Given the description of an element on the screen output the (x, y) to click on. 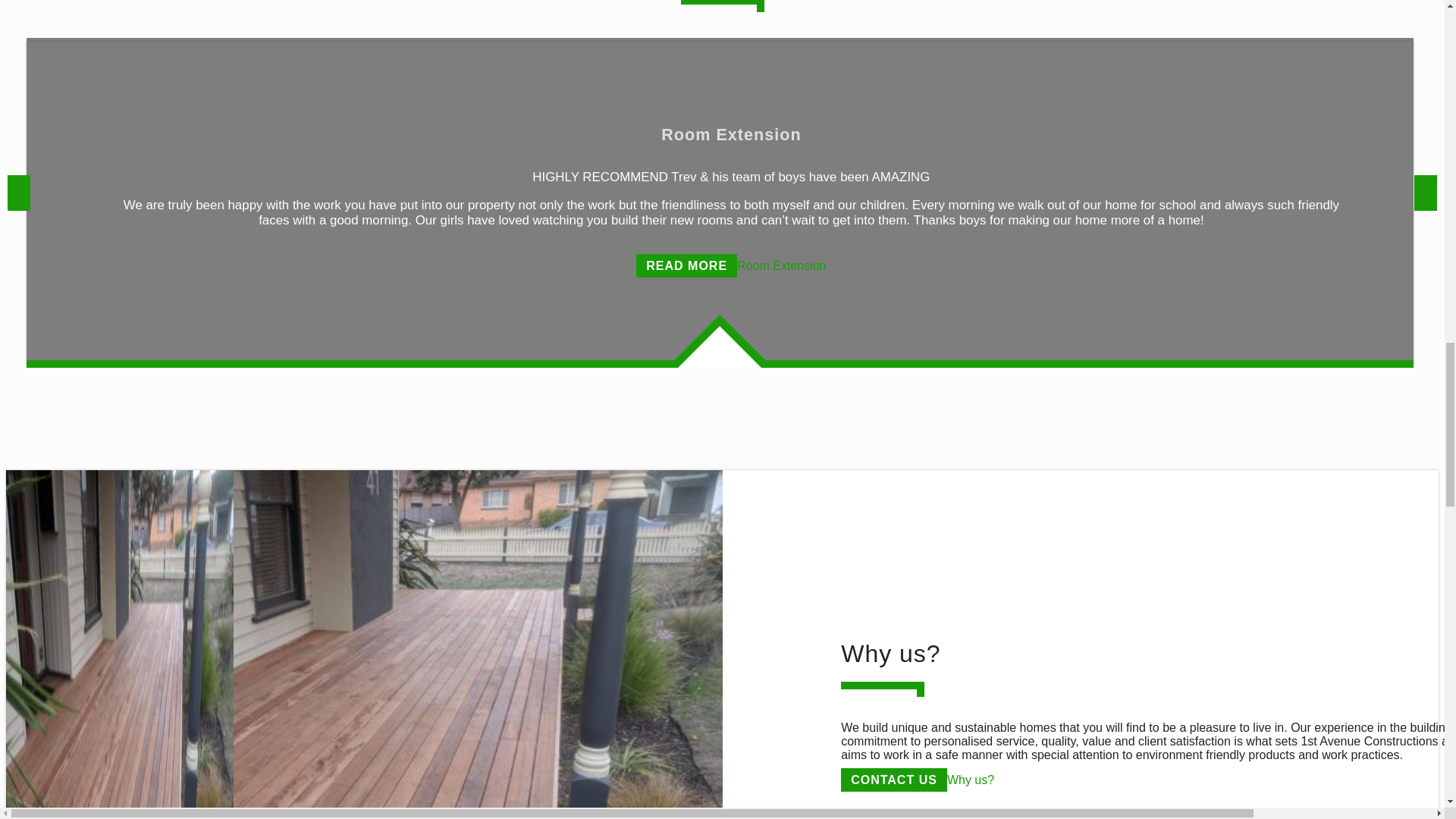
Why us? (970, 779)
CONTACT US (894, 779)
READ MORE (686, 265)
Room Extension (780, 265)
